Given the description of an element on the screen output the (x, y) to click on. 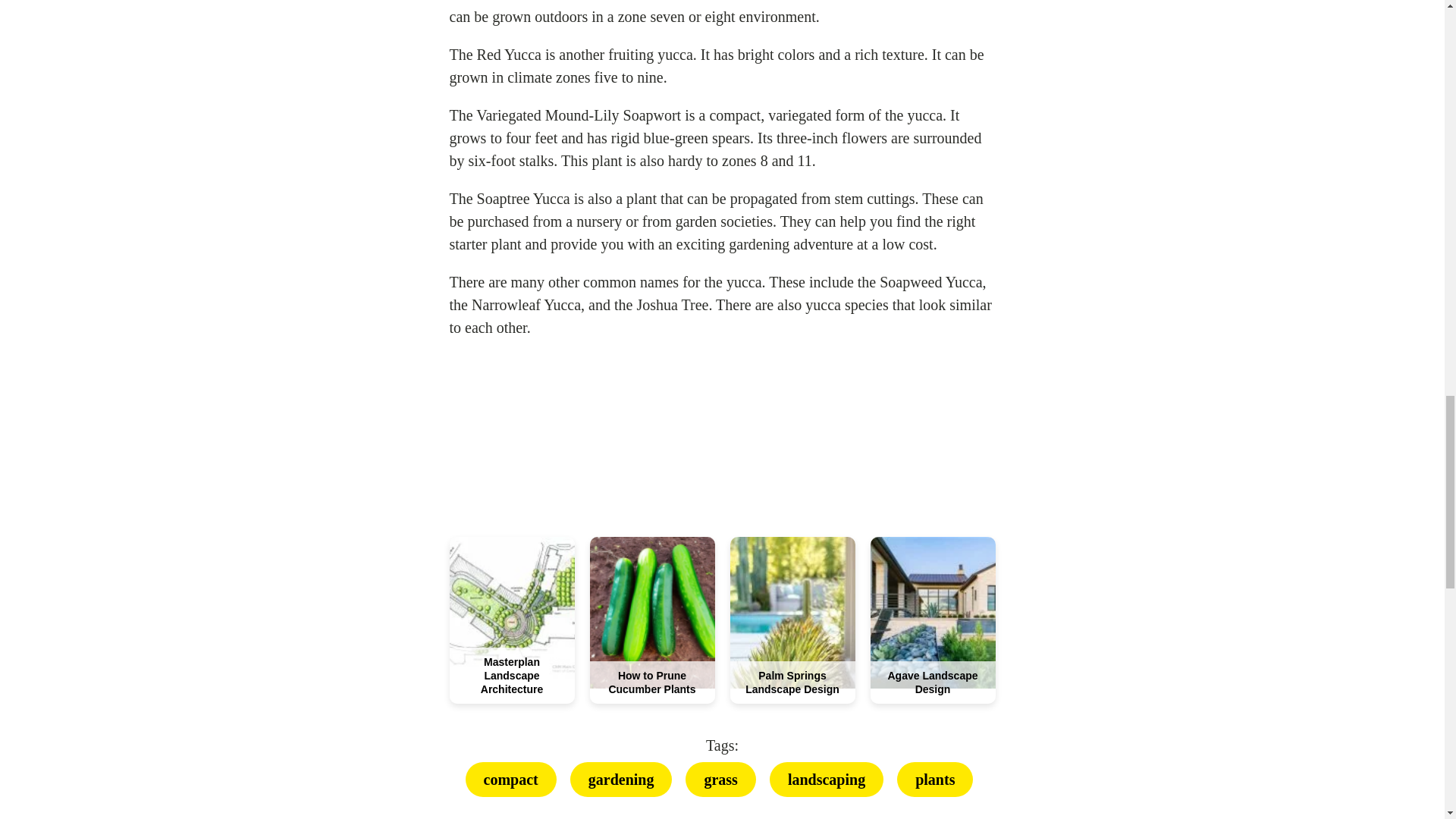
How to Prune Cucumber Plants (651, 682)
Palm Springs Landscape Design (792, 682)
Masterplan Landscape Architecture (511, 675)
